Given the description of an element on the screen output the (x, y) to click on. 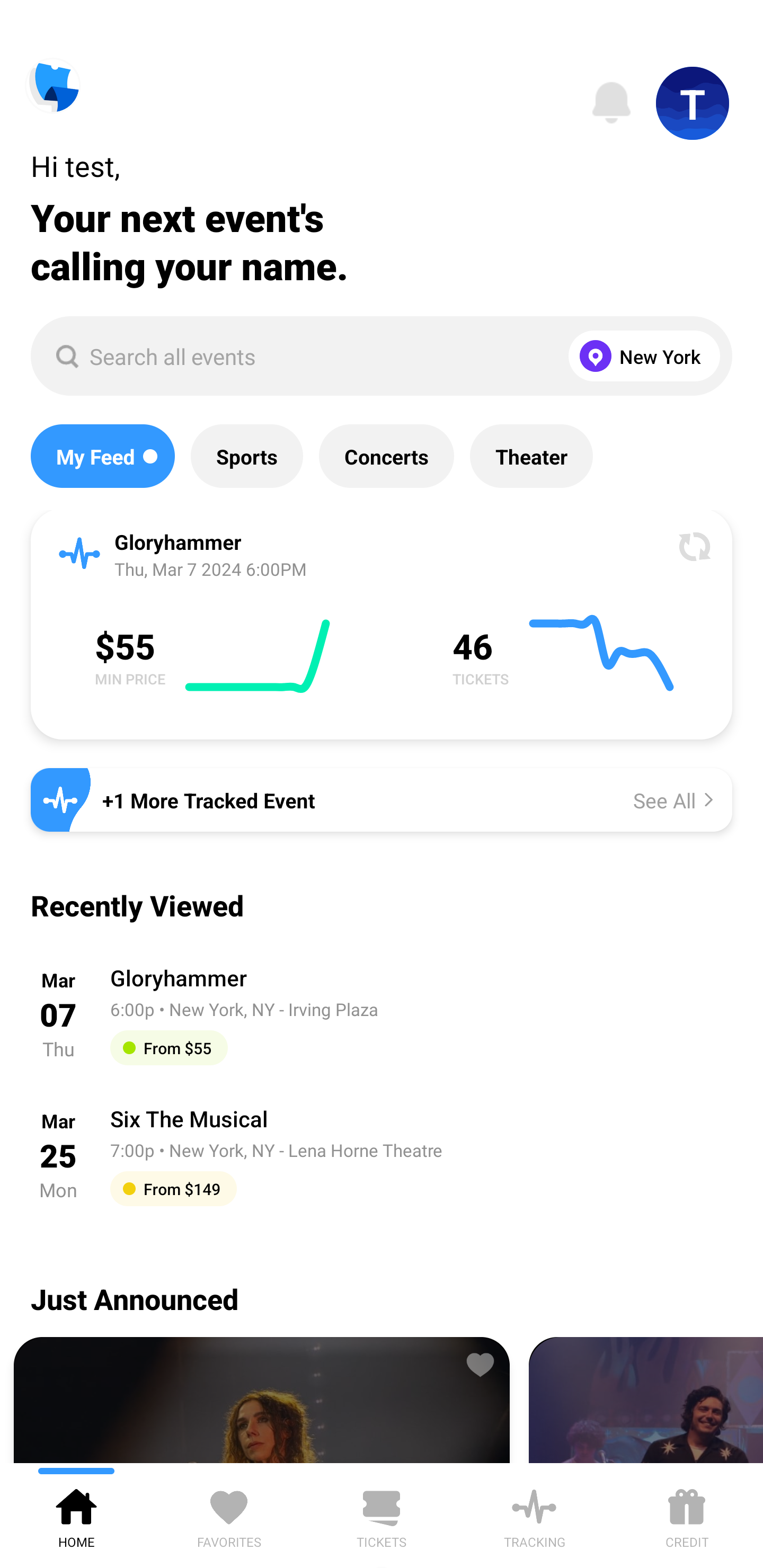
T (692, 103)
New York (640, 355)
My Feed (102, 455)
Sports (246, 455)
Concerts (385, 455)
Theater (531, 455)
HOME (76, 1515)
FAVORITES (228, 1515)
TICKETS (381, 1515)
TRACKING (533, 1515)
CREDIT (686, 1515)
